Given the description of an element on the screen output the (x, y) to click on. 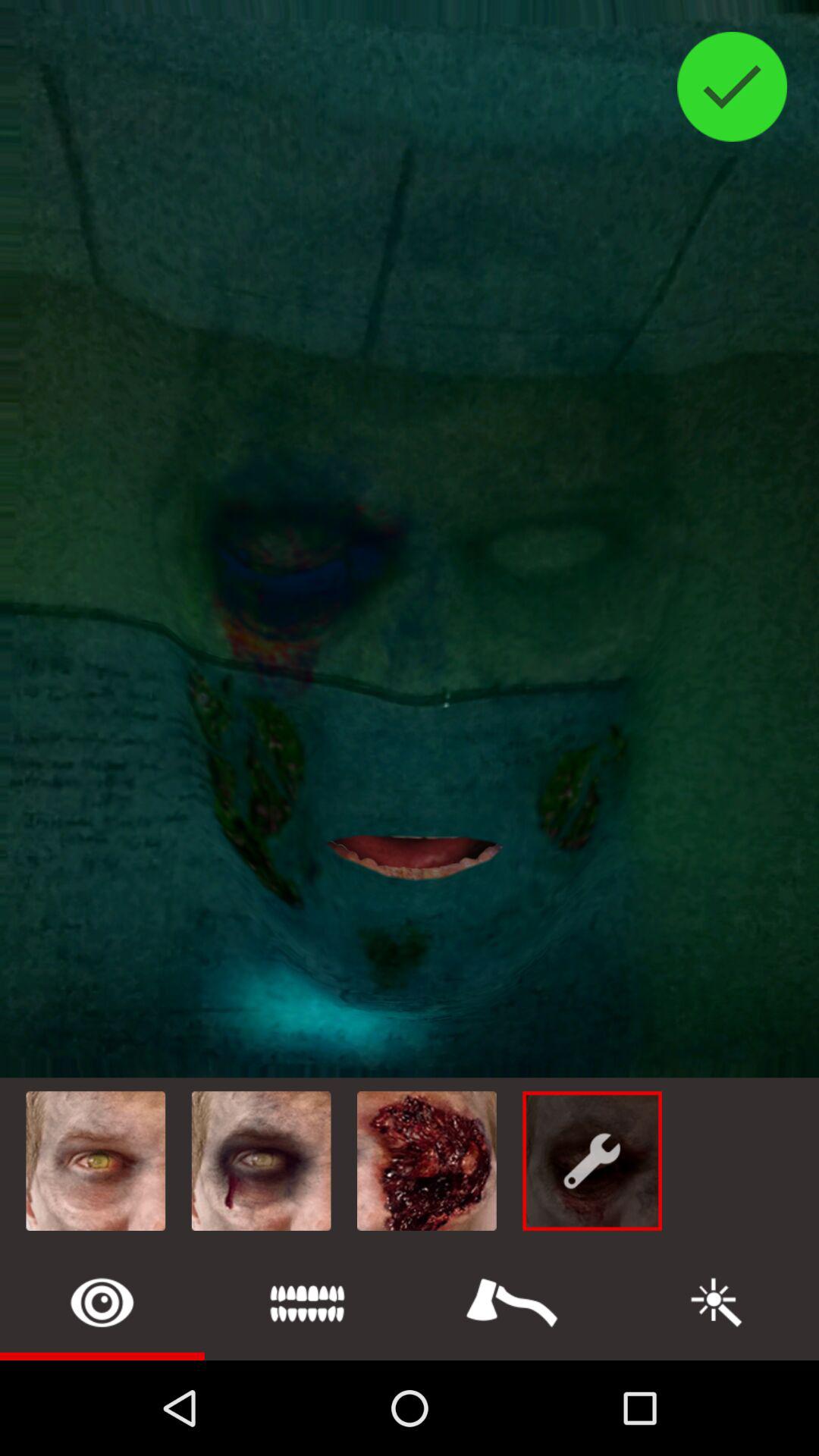
increase brightness (716, 1302)
